Given the description of an element on the screen output the (x, y) to click on. 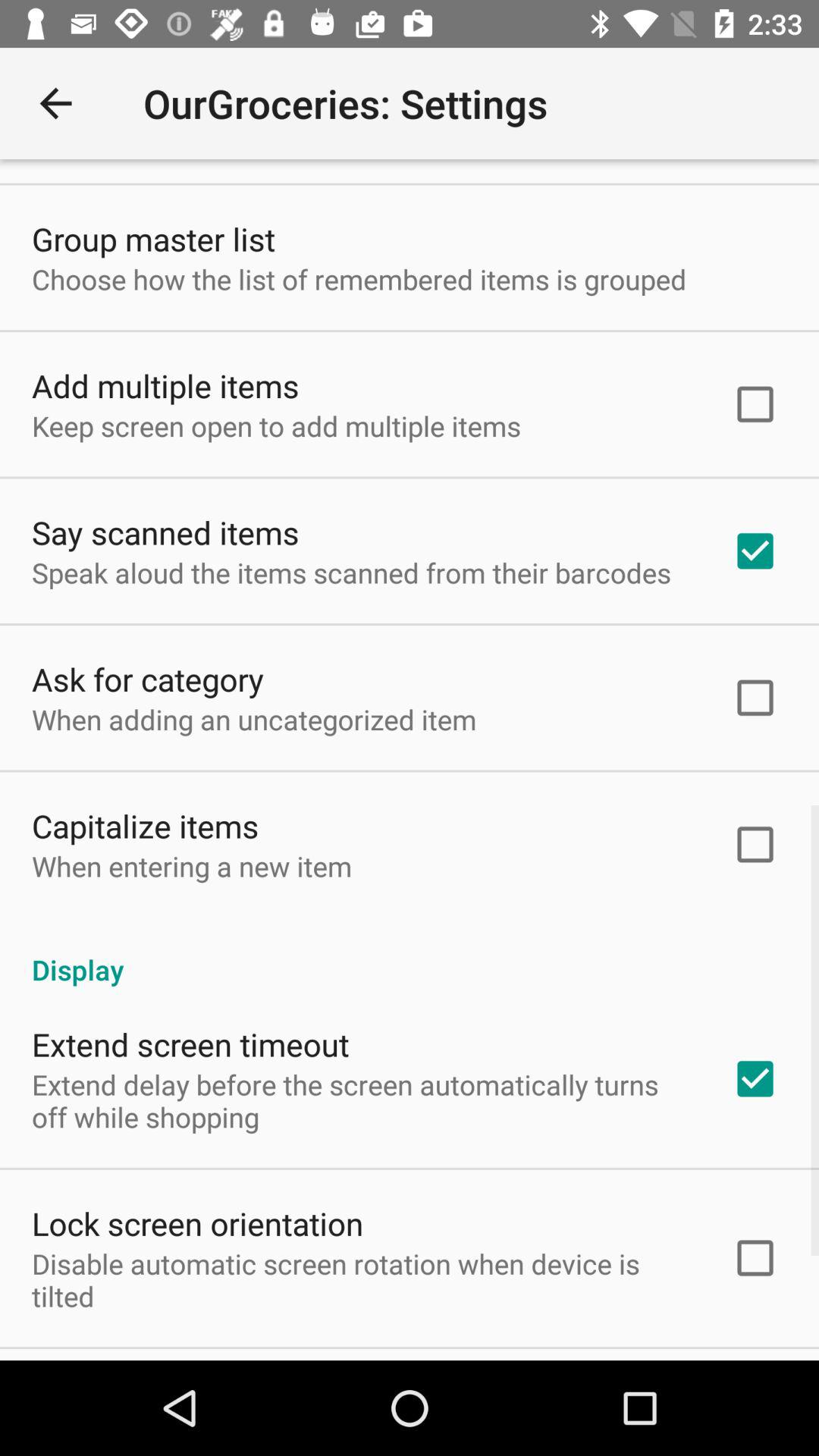
press the ask for category icon (147, 678)
